Given the description of an element on the screen output the (x, y) to click on. 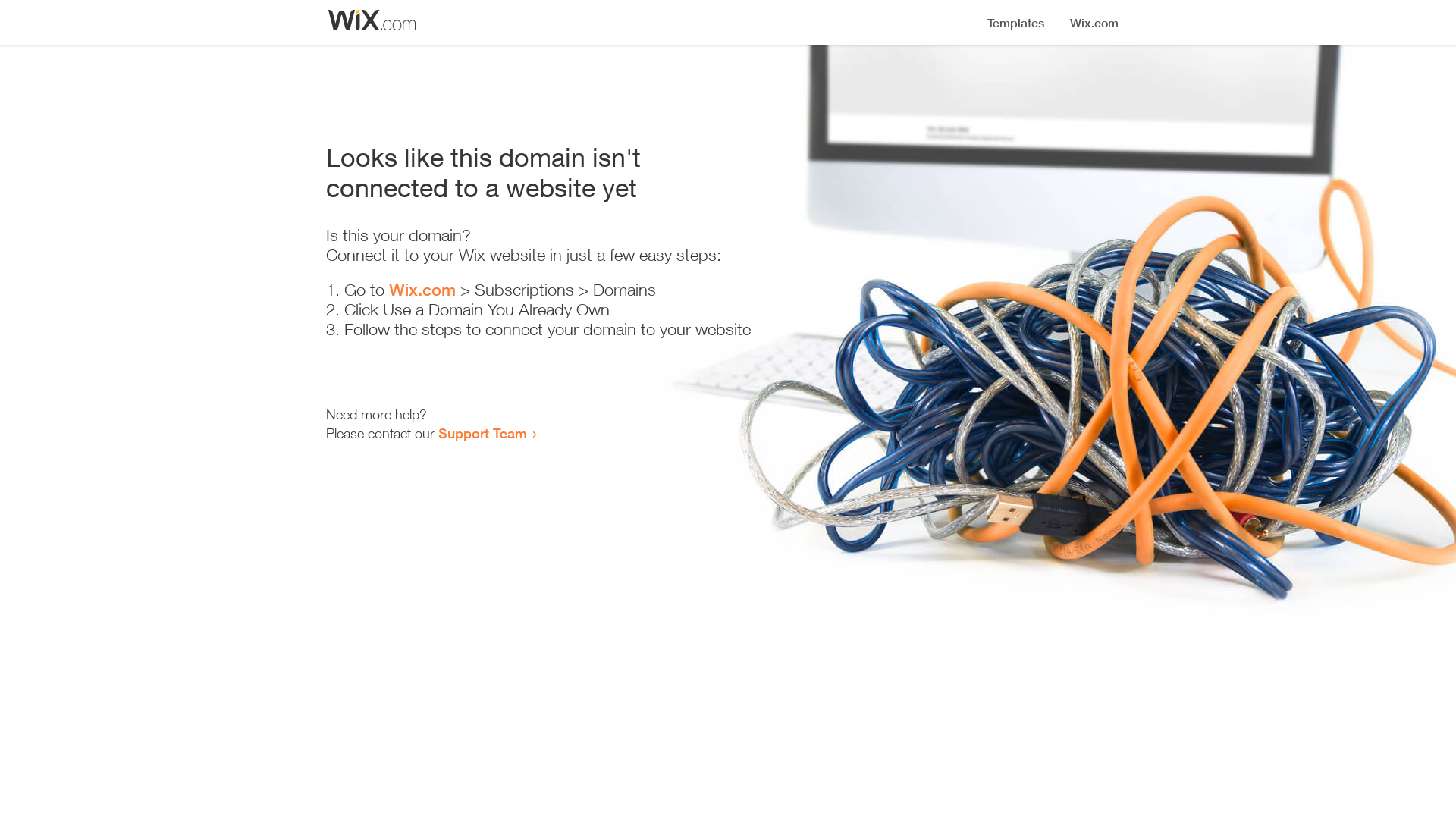
Support Team Element type: text (482, 432)
Wix.com Element type: text (422, 289)
